Given the description of an element on the screen output the (x, y) to click on. 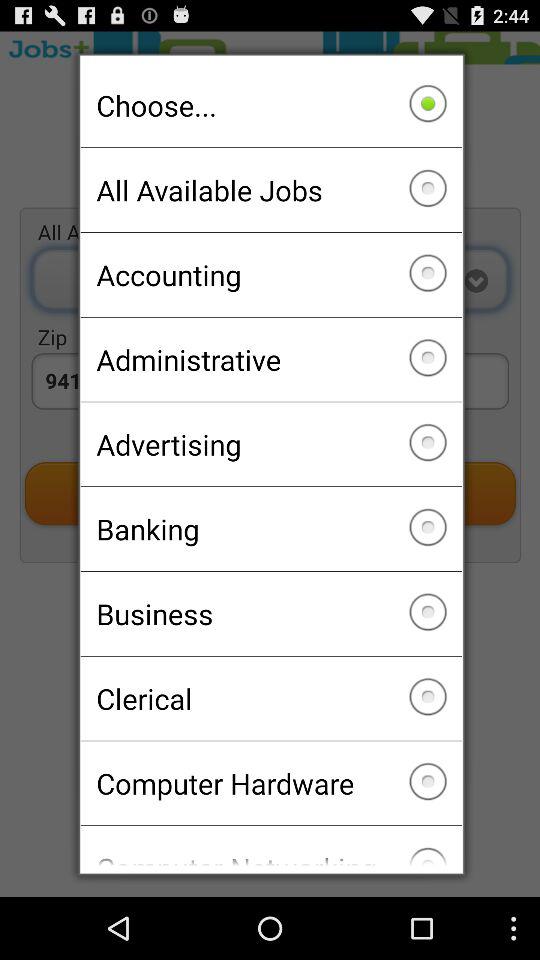
open the computer networking (270, 846)
